Given the description of an element on the screen output the (x, y) to click on. 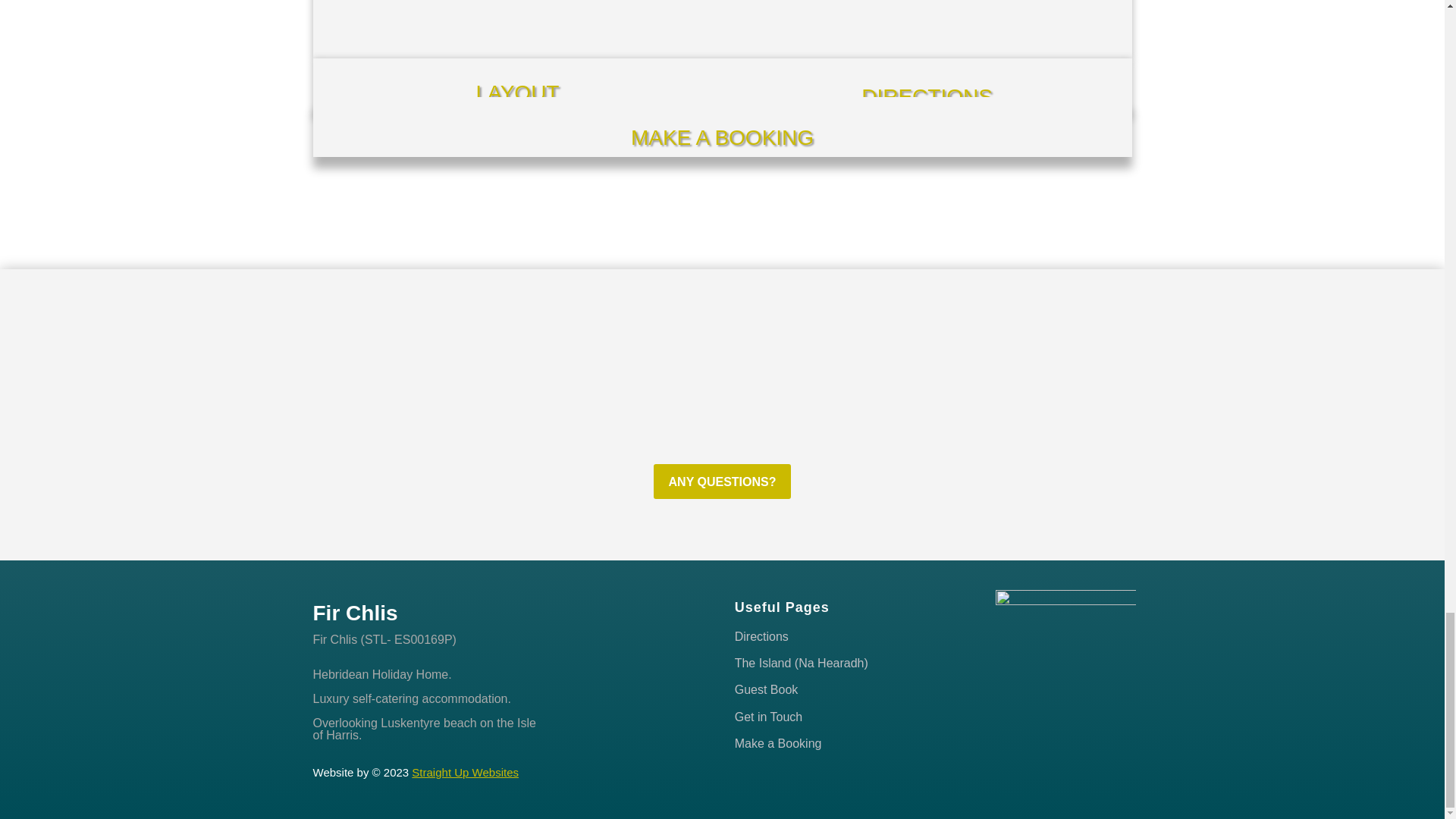
DIRECTIONS (926, 96)
ANY QUESTIONS? (722, 481)
MAKE A BOOKING (721, 137)
LAYOUT (517, 92)
